Given the description of an element on the screen output the (x, y) to click on. 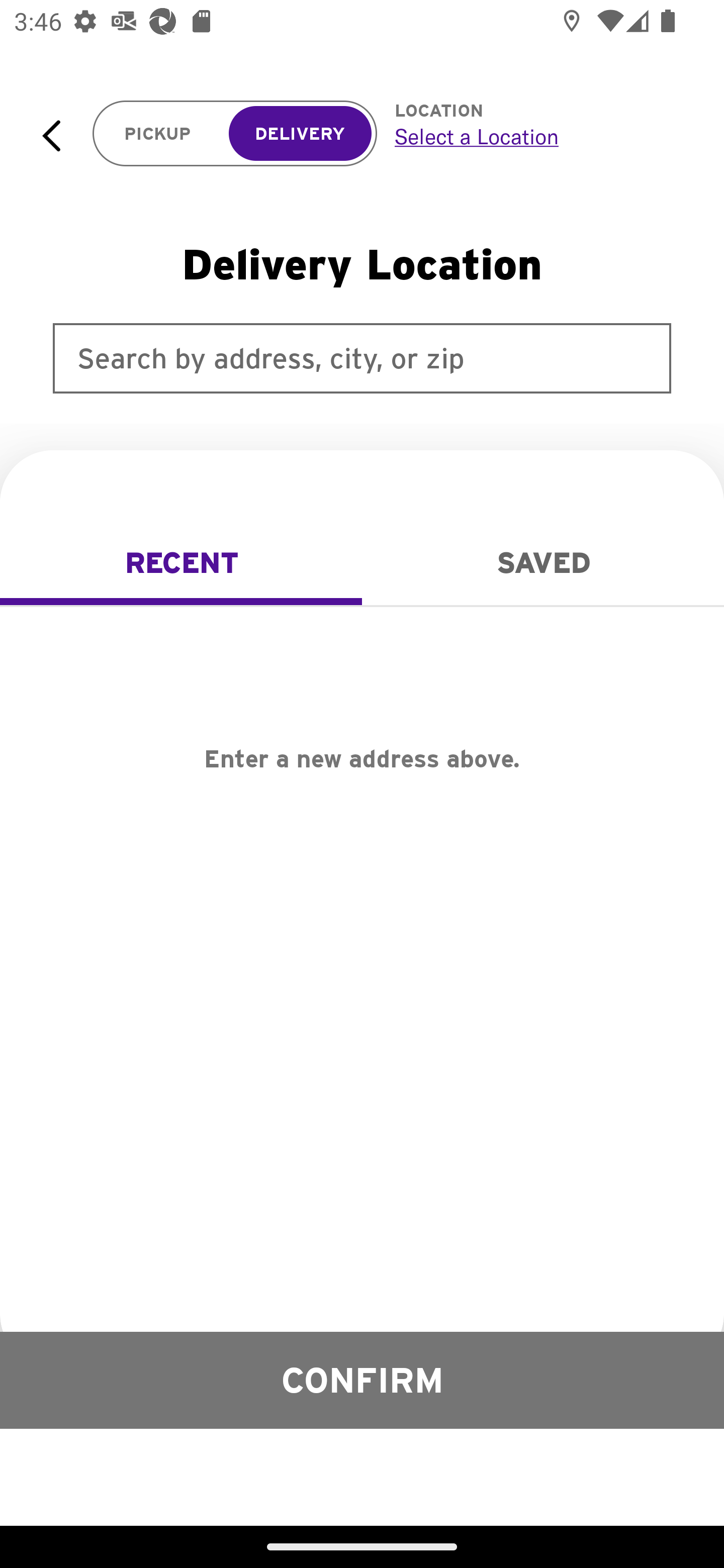
PICKUP (157, 133)
DELIVERY (299, 133)
Select a Location (536, 136)
Search by address, city, or zip (361, 358)
Saved SAVED (543, 562)
CONFIRM (362, 1379)
